Given the description of an element on the screen output the (x, y) to click on. 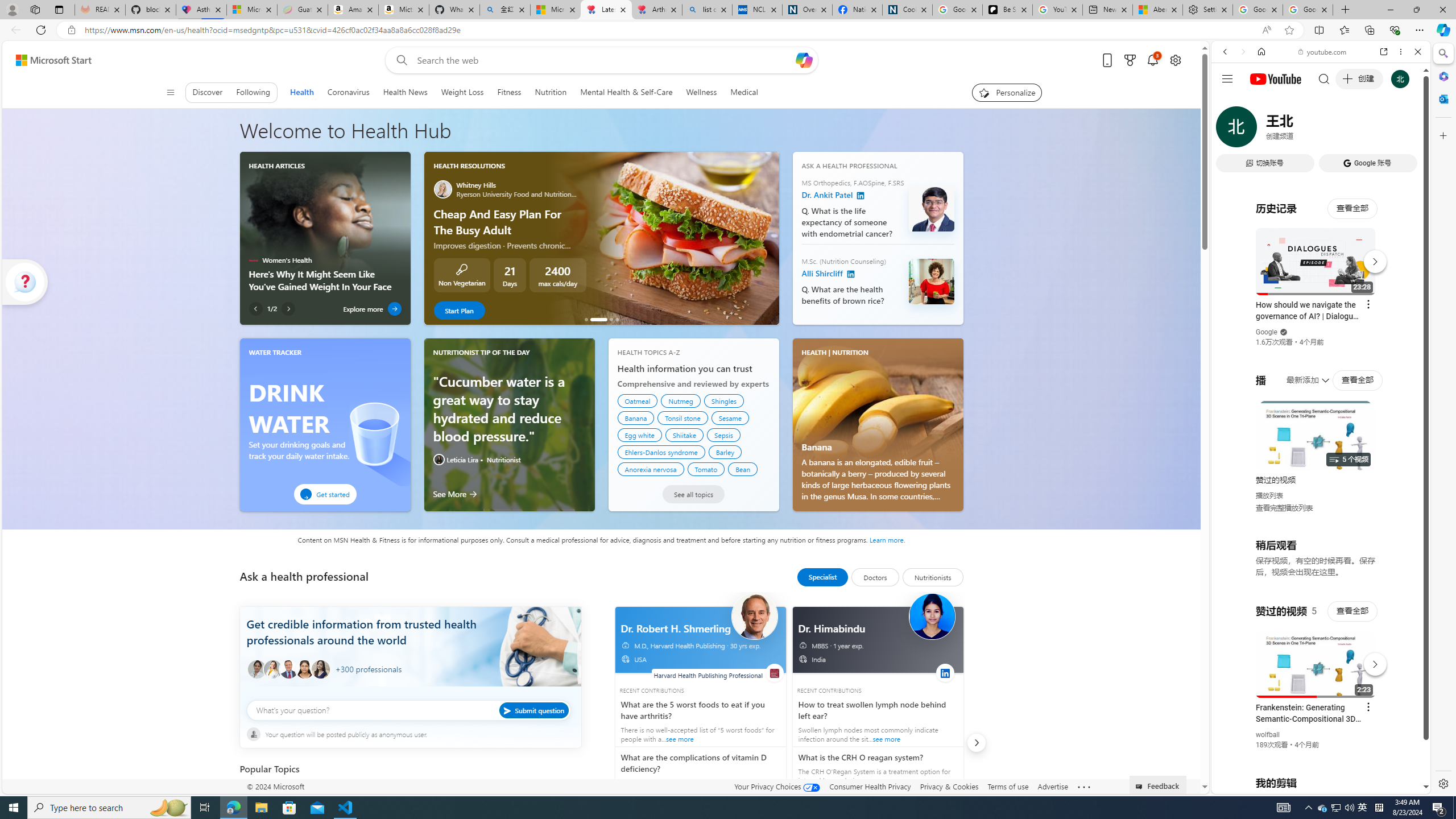
IMAGES (1262, 130)
Close Outlook pane (1442, 98)
Mental Health & Self-Care (626, 92)
Medical (743, 92)
Actions for this site (1371, 661)
What's your question? (408, 710)
Pictorial representation of Gout (443, 797)
Background (409, 654)
Mental Health & Self-Care (626, 92)
